Given the description of an element on the screen output the (x, y) to click on. 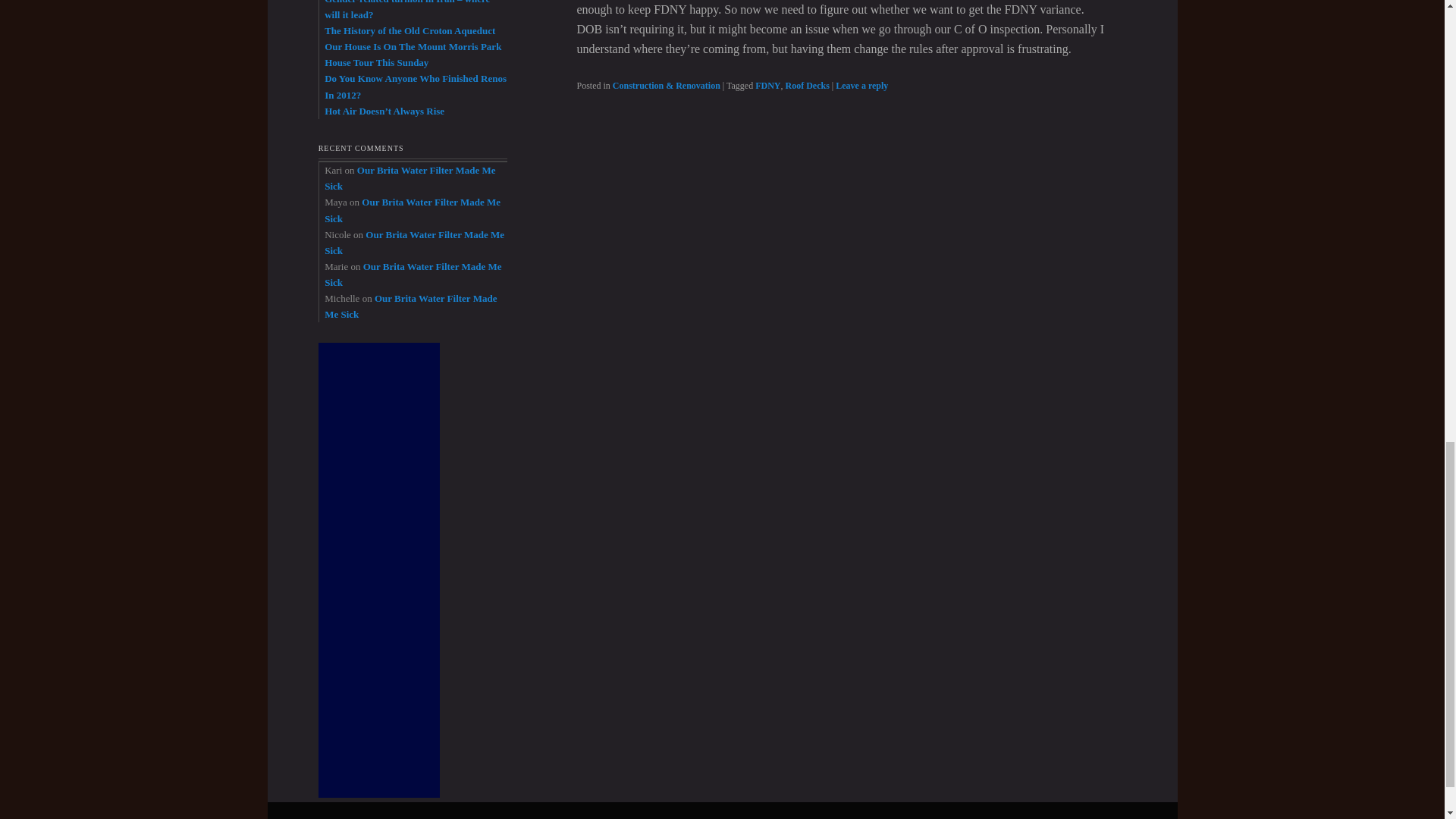
Leave a reply (861, 85)
FDNY (767, 85)
Roof Decks (807, 85)
